Given the description of an element on the screen output the (x, y) to click on. 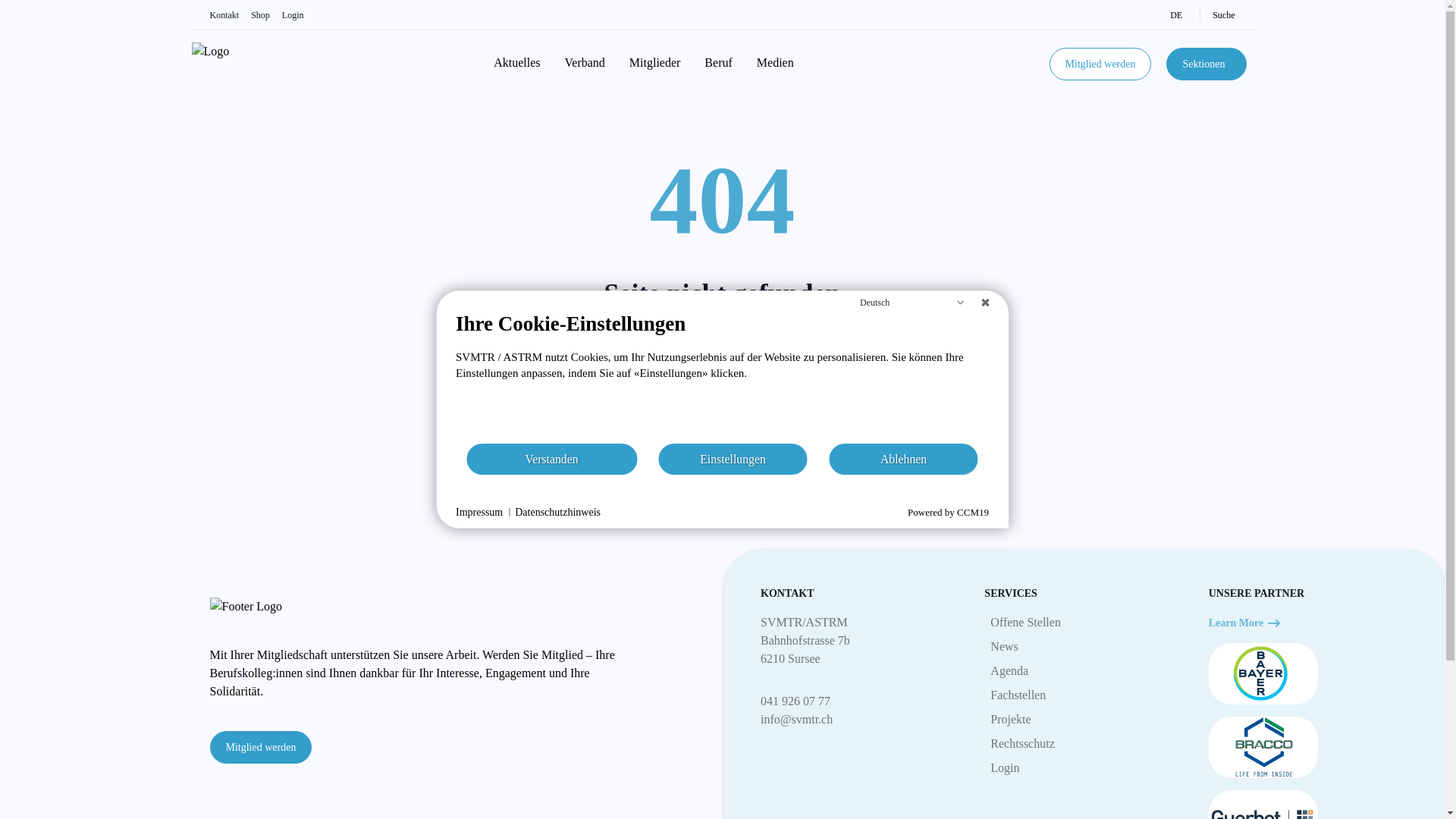
info@svmtr.ch Element type: text (860, 719)
Kontakt Element type: text (223, 14)
Agenda Element type: text (1083, 671)
Sektionen Element type: text (1206, 63)
Suche Element type: text (1216, 14)
News Element type: text (1083, 646)
Verband Element type: text (584, 63)
Rechtsschutz Element type: text (1083, 743)
Verstanden Element type: text (551, 458)
Mitglied werden Element type: text (1100, 63)
Datenschutzhinweis Element type: text (557, 512)
Mitglieder Element type: text (654, 63)
Shop Element type: text (260, 14)
Projekte Element type: text (1083, 719)
Login Element type: text (1083, 768)
Zur Startseite Element type: text (719, 411)
Powered by CCM19 Element type: text (947, 511)
Ablehnen Element type: text (903, 458)
Einstellungen Element type: text (732, 458)
Impressum Element type: text (478, 512)
Offene Stellen Element type: text (1083, 622)
Login Element type: text (293, 14)
Close Element type: hover (984, 302)
Mitglied werden Element type: text (260, 747)
Beruf Element type: text (717, 63)
Learn More Element type: text (1244, 622)
Fachstellen Element type: text (1083, 695)
Medien Element type: text (774, 63)
041 926 07 77 Element type: text (860, 701)
Aktuelles Element type: text (516, 63)
